Given the description of an element on the screen output the (x, y) to click on. 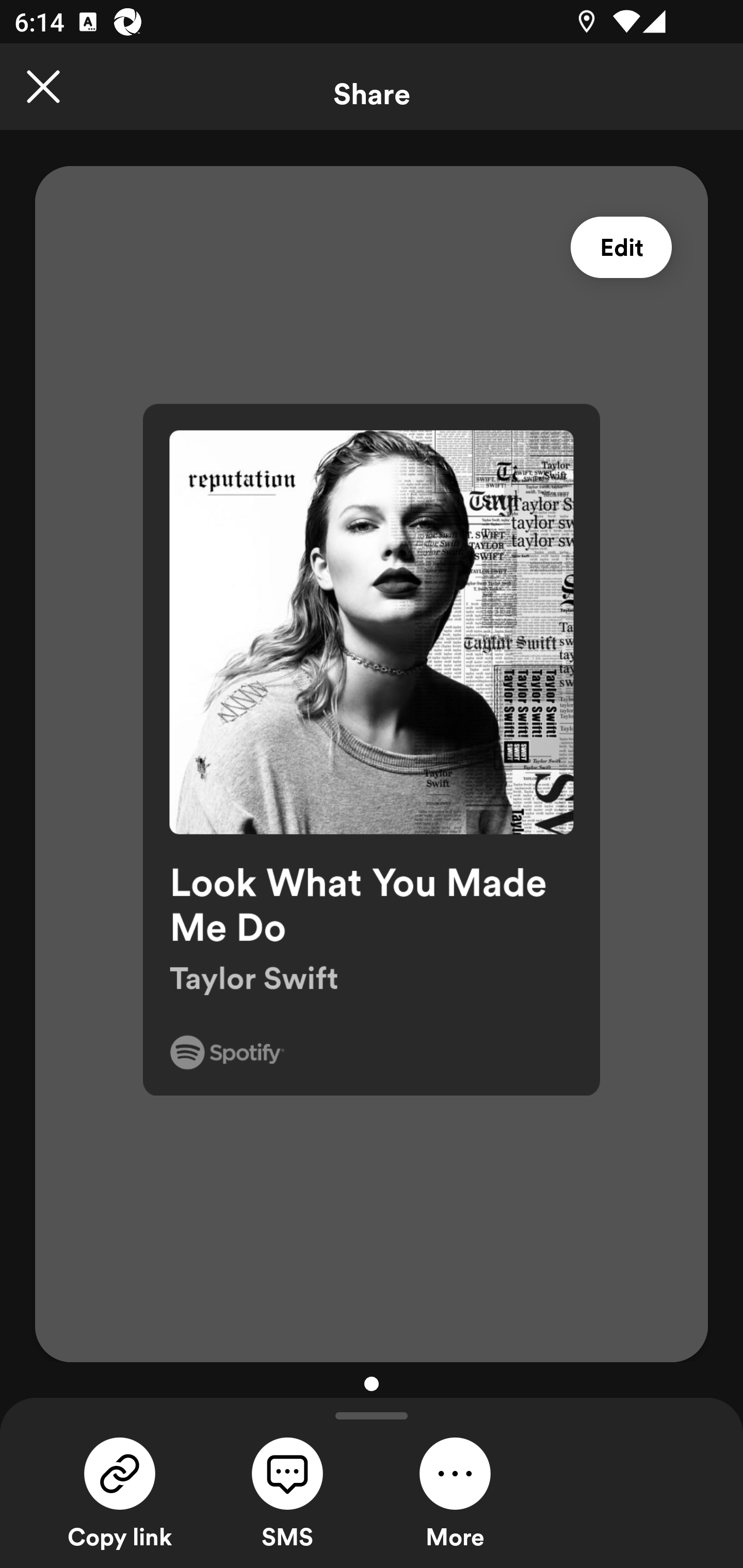
Close the Now Playing View (43, 86)
Edit (620, 247)
Copy share link Copy link (119, 1491)
Share over SMS SMS (287, 1491)
More sharing options More (455, 1491)
